Given the description of an element on the screen output the (x, y) to click on. 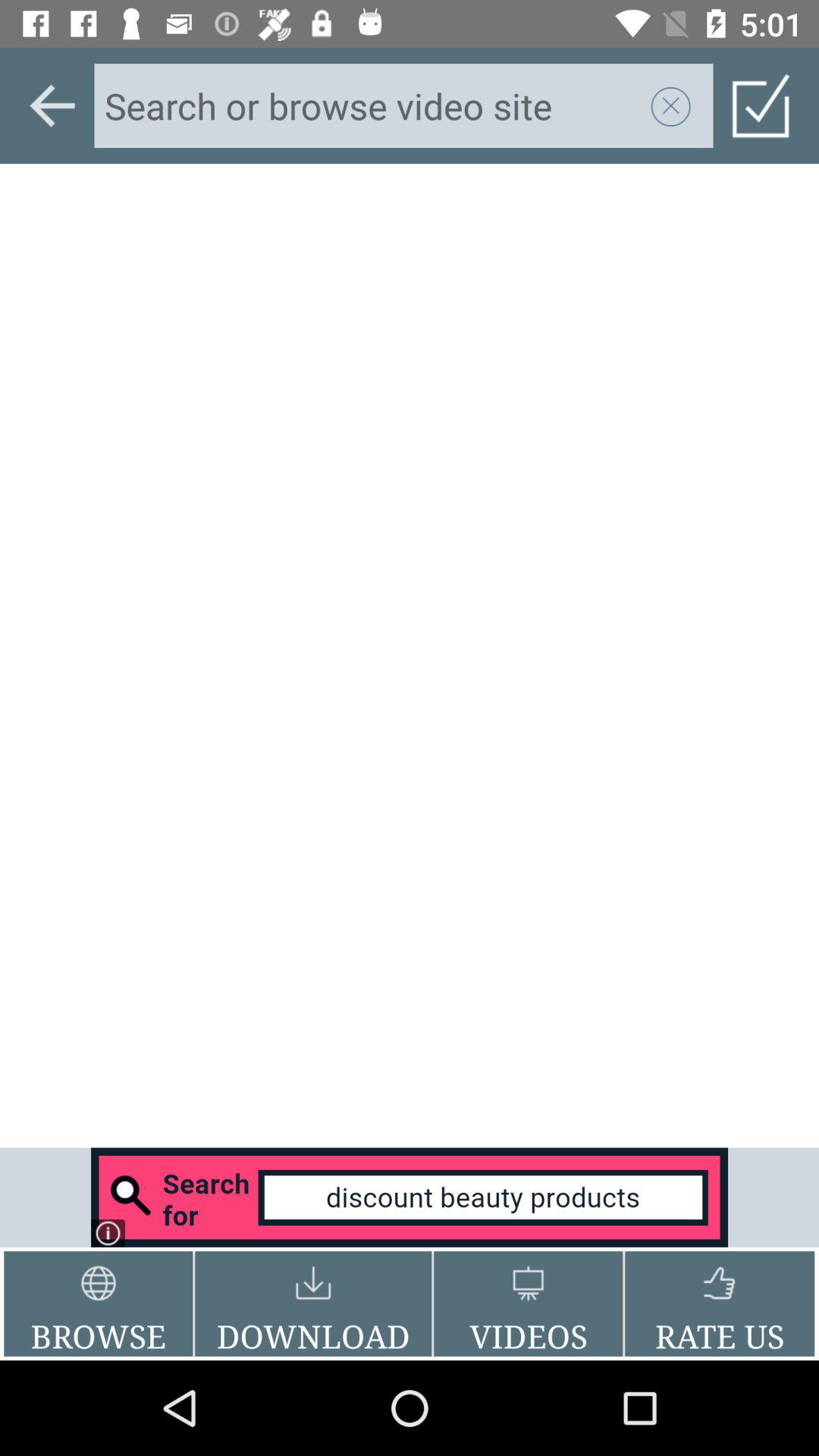
open search bar (409, 1197)
